Given the description of an element on the screen output the (x, y) to click on. 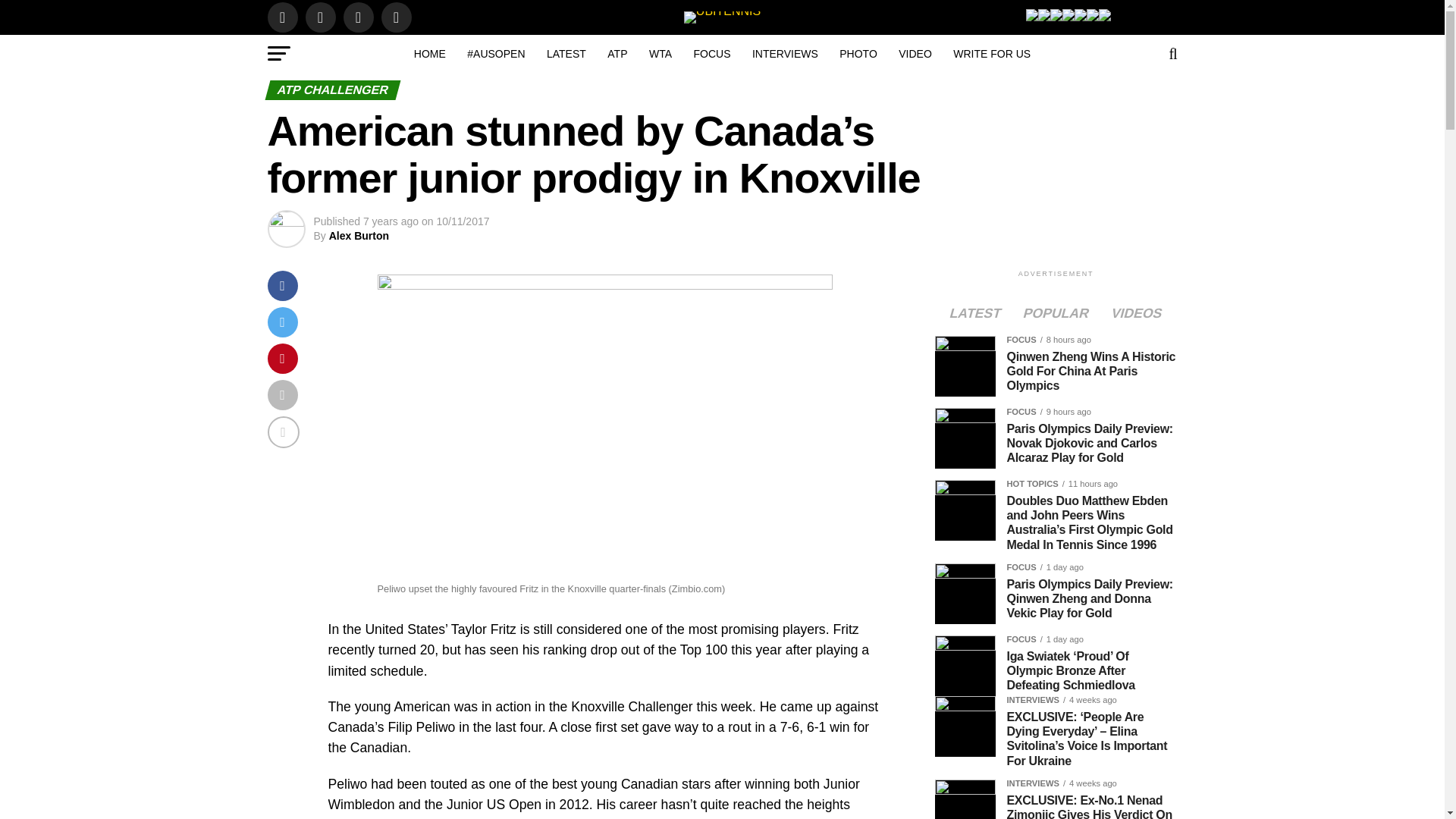
Alex Burton (358, 235)
INTERVIEWS (784, 53)
Posts by Alex Burton (358, 235)
PHOTO (857, 53)
HOME (429, 53)
VIDEO (914, 53)
FOCUS (711, 53)
LATEST (566, 53)
WRITE FOR US (991, 53)
WTA (660, 53)
